Given the description of an element on the screen output the (x, y) to click on. 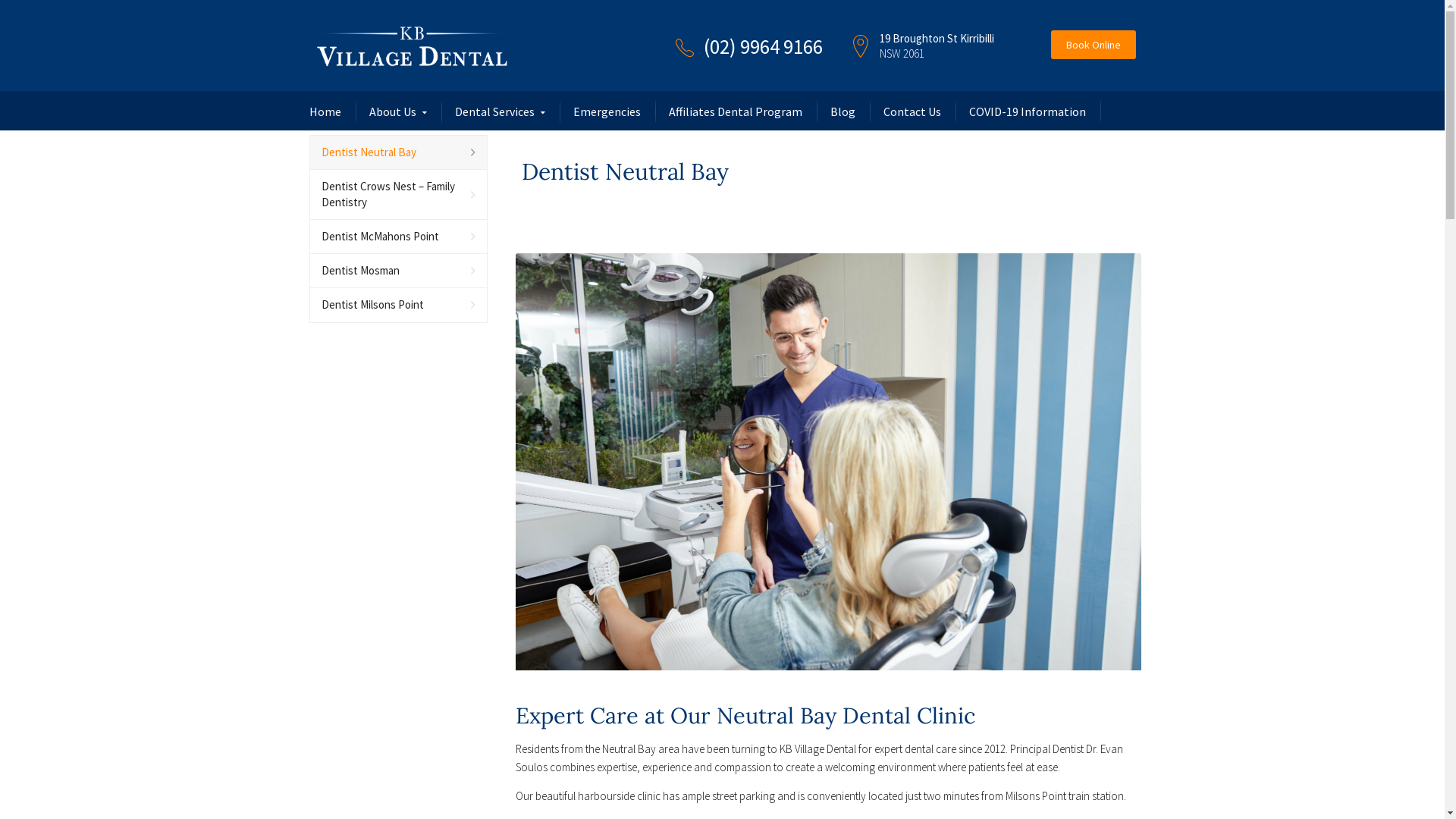
Dentist Mosman Element type: text (398, 271)
Dentist McMahons Point Element type: text (398, 236)
Dentist Neutral Bay Element type: text (398, 152)
COVID-19 Information Element type: text (1027, 111)
Dentist Milsons Point Element type: text (398, 305)
Dental Services Element type: text (500, 112)
(02) 9964 9166 Element type: text (762, 46)
Contact Us Element type: text (911, 111)
Affiliates Dental Program Element type: text (735, 111)
Emergencies Element type: text (606, 111)
Book Online Element type: text (1093, 44)
About Us Element type: text (397, 112)
Home Element type: text (325, 111)
Blog Element type: text (841, 111)
